Given the description of an element on the screen output the (x, y) to click on. 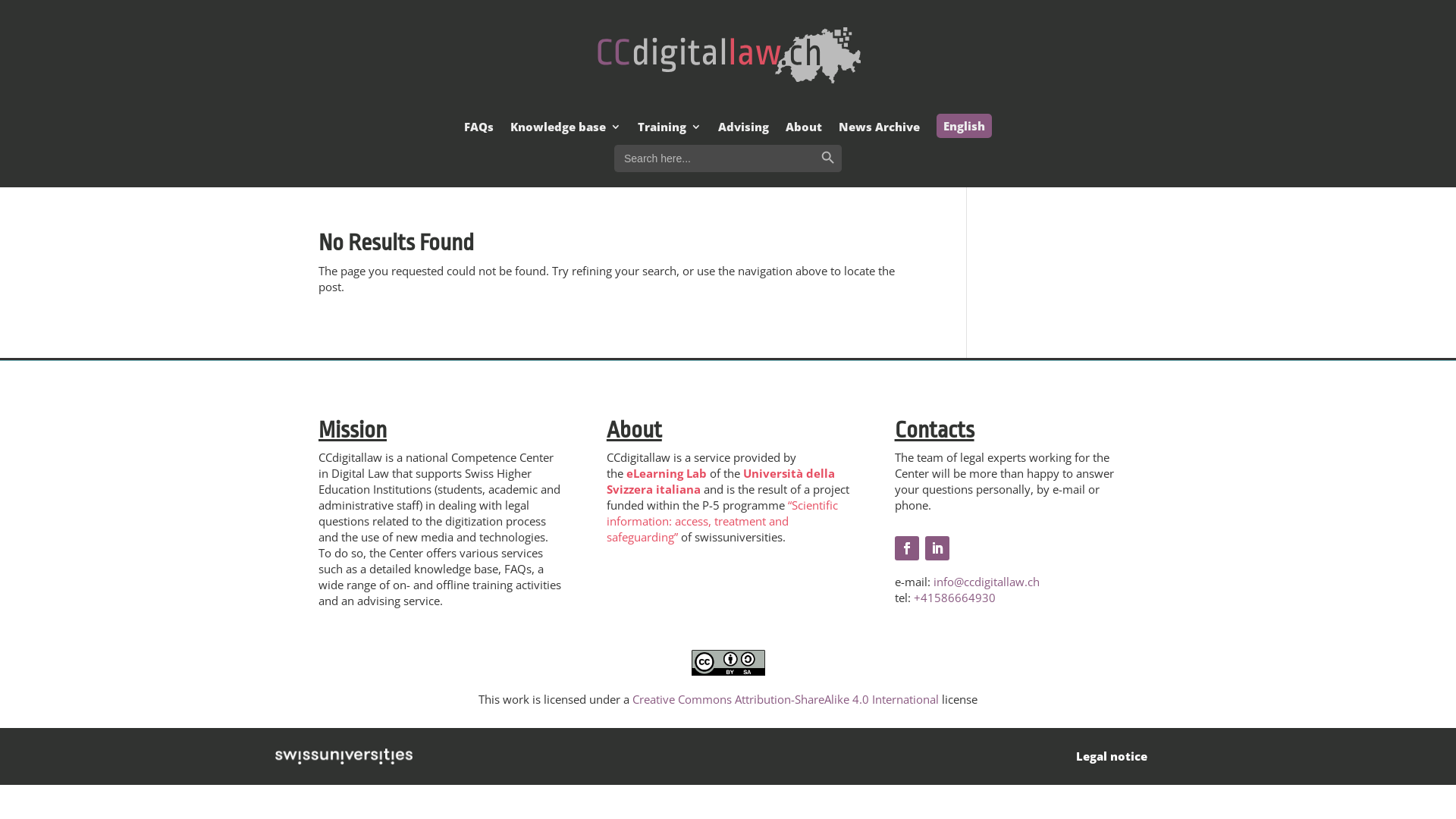
Legal notice Element type: text (1111, 755)
English Element type: text (963, 125)
Advising Element type: text (743, 129)
FAQs Element type: text (478, 129)
info@ccdigitallaw.ch Element type: text (986, 581)
eLearning Lab Element type: text (666, 472)
Search Button Element type: text (827, 158)
Creative Commons Attribution-ShareAlike 4.0 International Element type: text (785, 698)
News Archive Element type: text (878, 129)
About Element type: text (803, 129)
Follow on LinkedIn Element type: hover (937, 548)
Logo CCDL colori-grigio Element type: hover (727, 55)
+41586664930 Element type: text (954, 597)
Knowledge base Element type: text (565, 129)
swissuniversities_white Element type: hover (343, 756)
Follow on Facebook Element type: hover (906, 548)
Training Element type: text (669, 129)
